Given the description of an element on the screen output the (x, y) to click on. 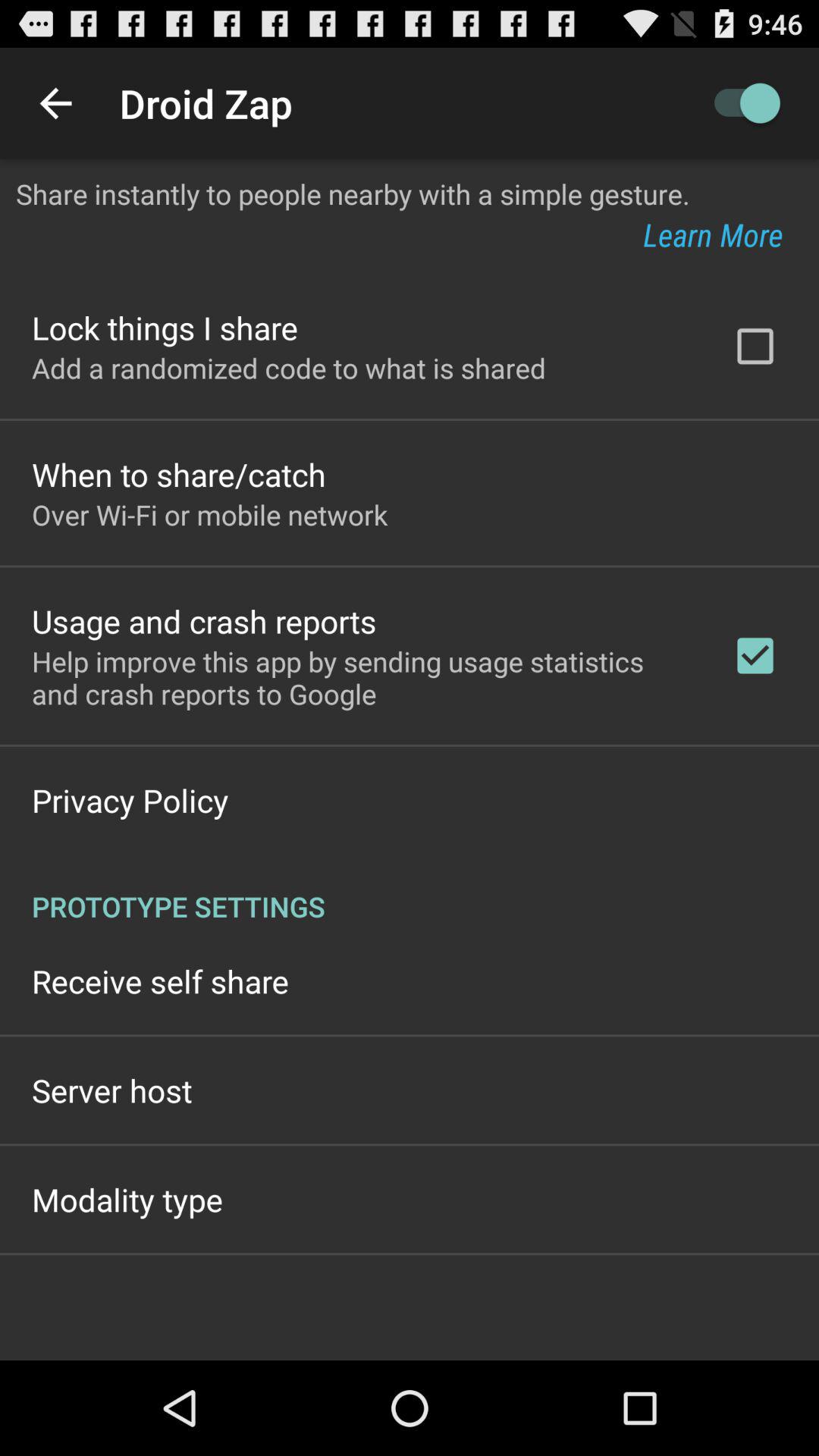
select the app below usage and crash icon (361, 677)
